Given the description of an element on the screen output the (x, y) to click on. 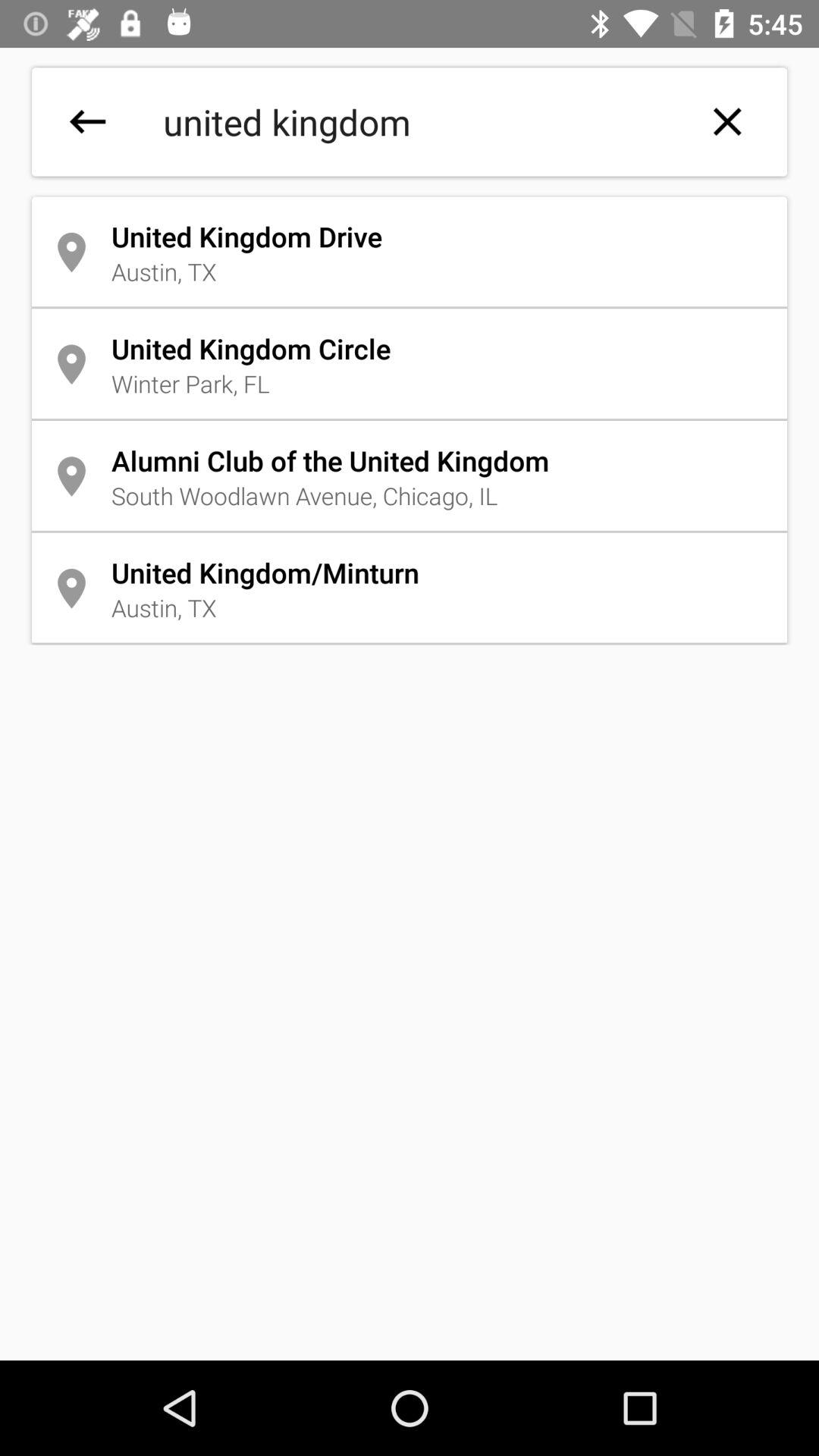
go back button (87, 121)
